Given the description of an element on the screen output the (x, y) to click on. 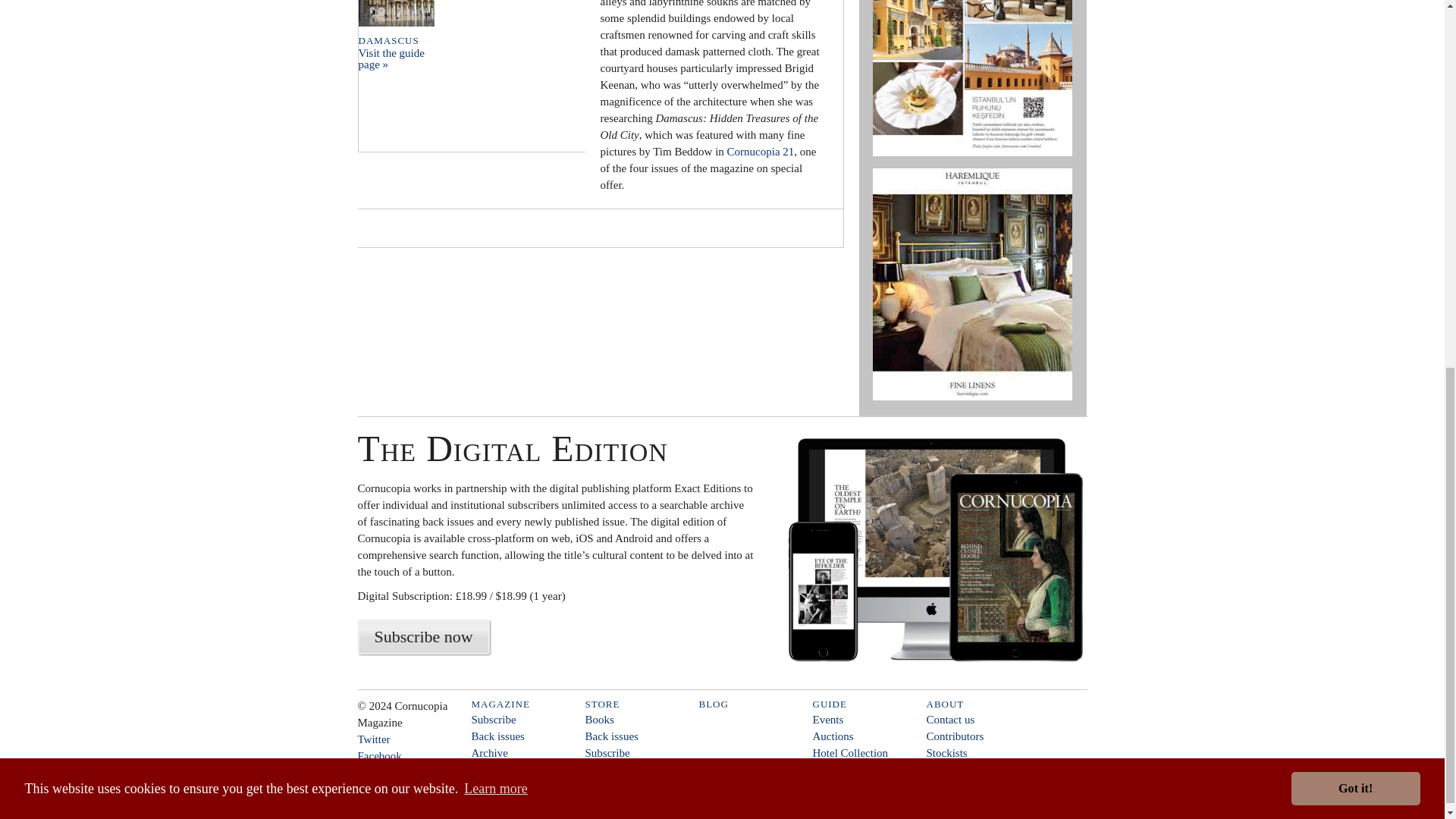
Learn more (496, 118)
Got it! (1356, 118)
Cornucopia Digital Subscription (920, 551)
